Given the description of an element on the screen output the (x, y) to click on. 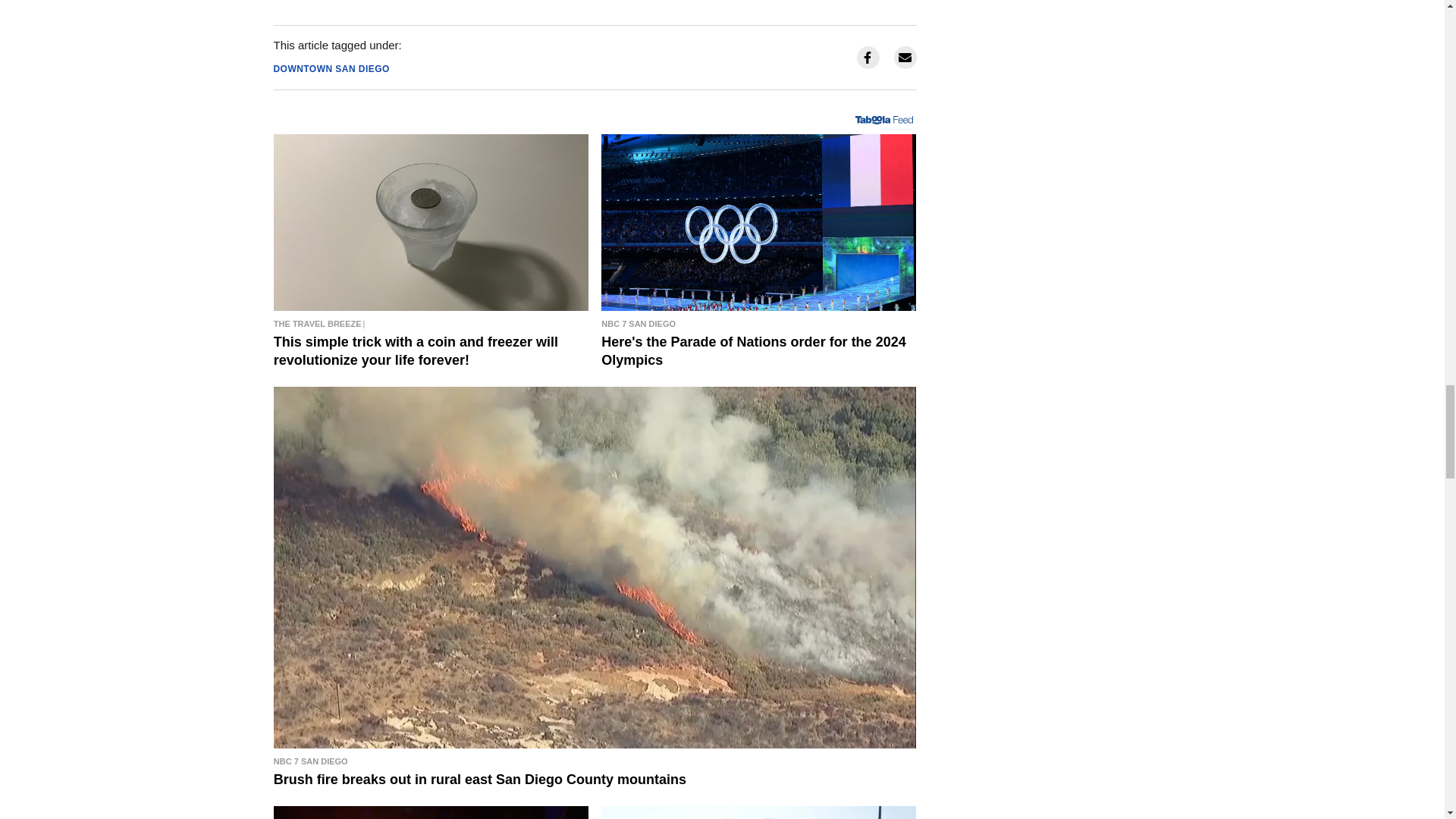
Here's the Parade of Nations order for the 2024 Olympics (758, 341)
